Given the description of an element on the screen output the (x, y) to click on. 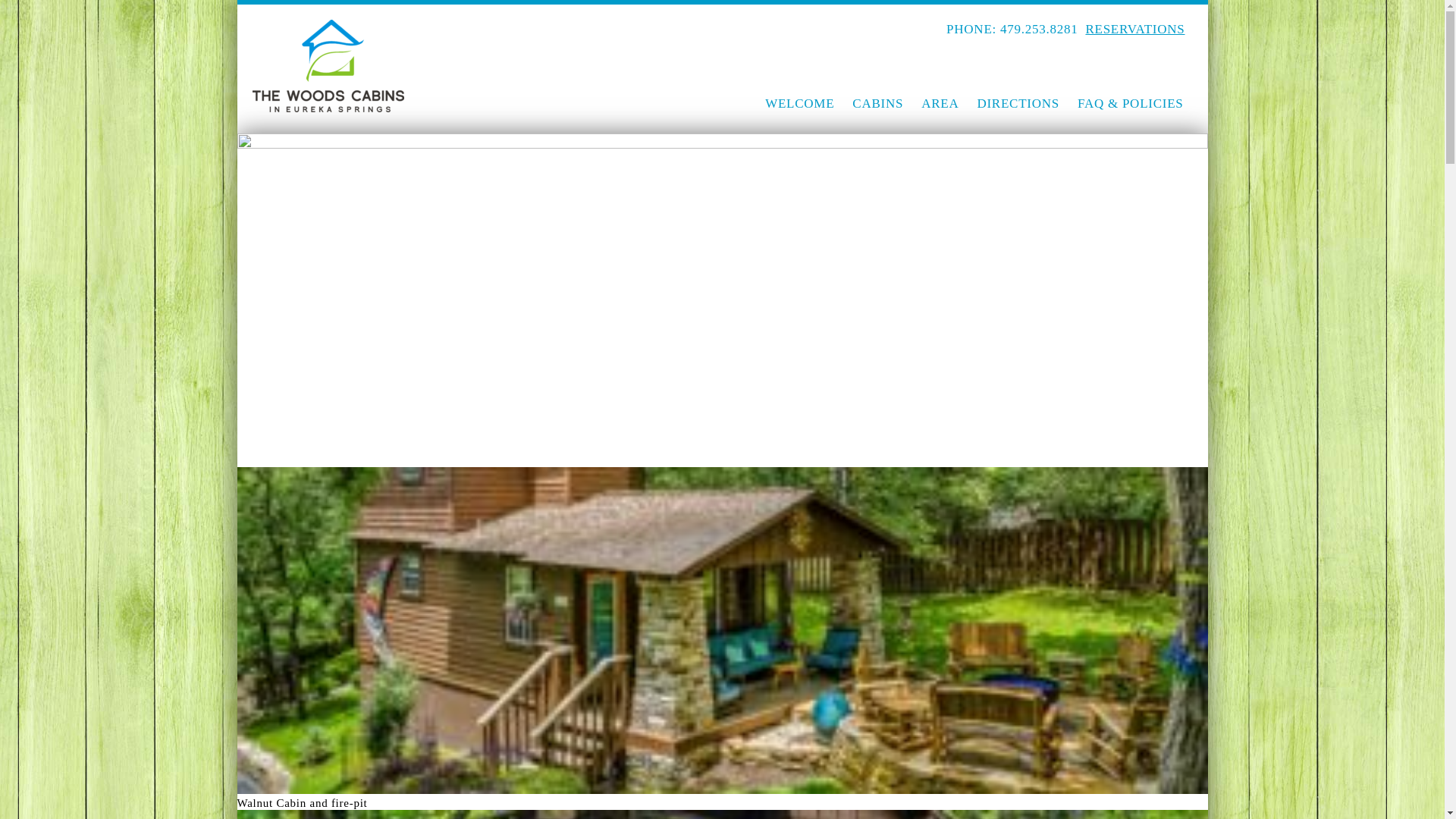
RESERVATIONS (1134, 29)
WELCOME (799, 103)
DIRECTIONS (1017, 103)
AREA (939, 103)
CABINS (876, 103)
